Given the description of an element on the screen output the (x, y) to click on. 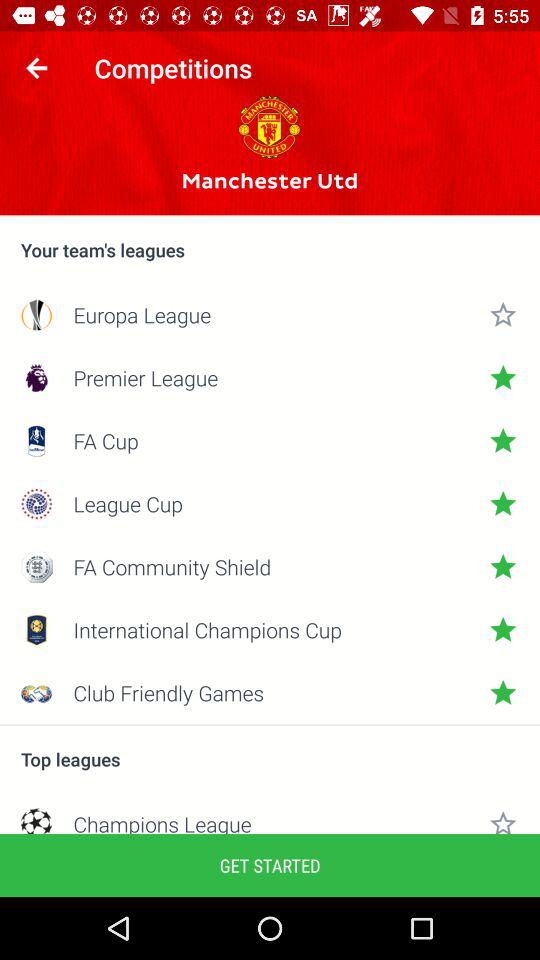
tap the icon below the fa community shield item (269, 629)
